Given the description of an element on the screen output the (x, y) to click on. 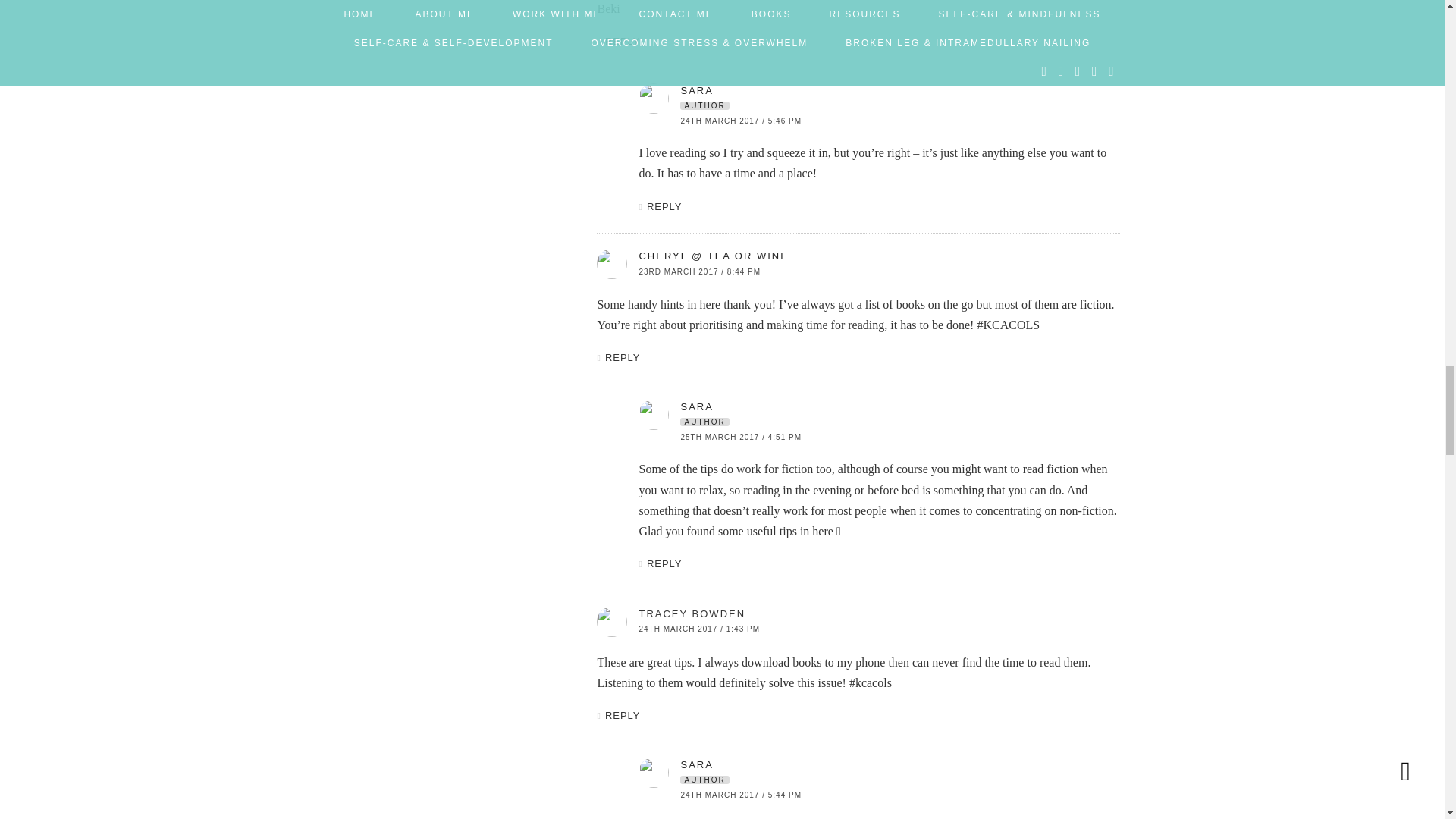
REPLY (664, 205)
REPLY (622, 357)
REPLY (622, 41)
REPLY (622, 715)
REPLY (664, 563)
TRACEY BOWDEN (692, 613)
